Given the description of an element on the screen output the (x, y) to click on. 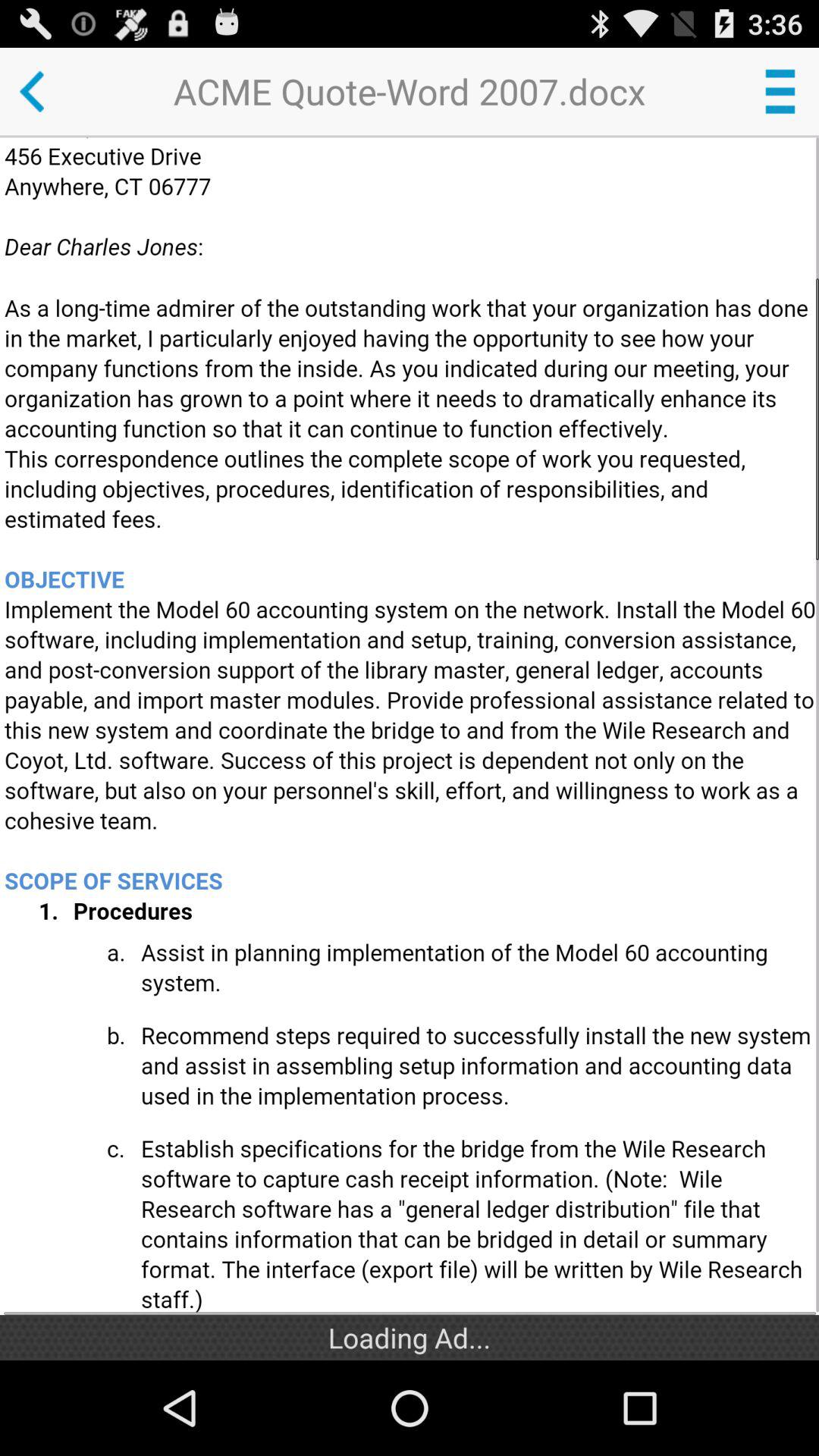
select the item at the center (411, 725)
